Given the description of an element on the screen output the (x, y) to click on. 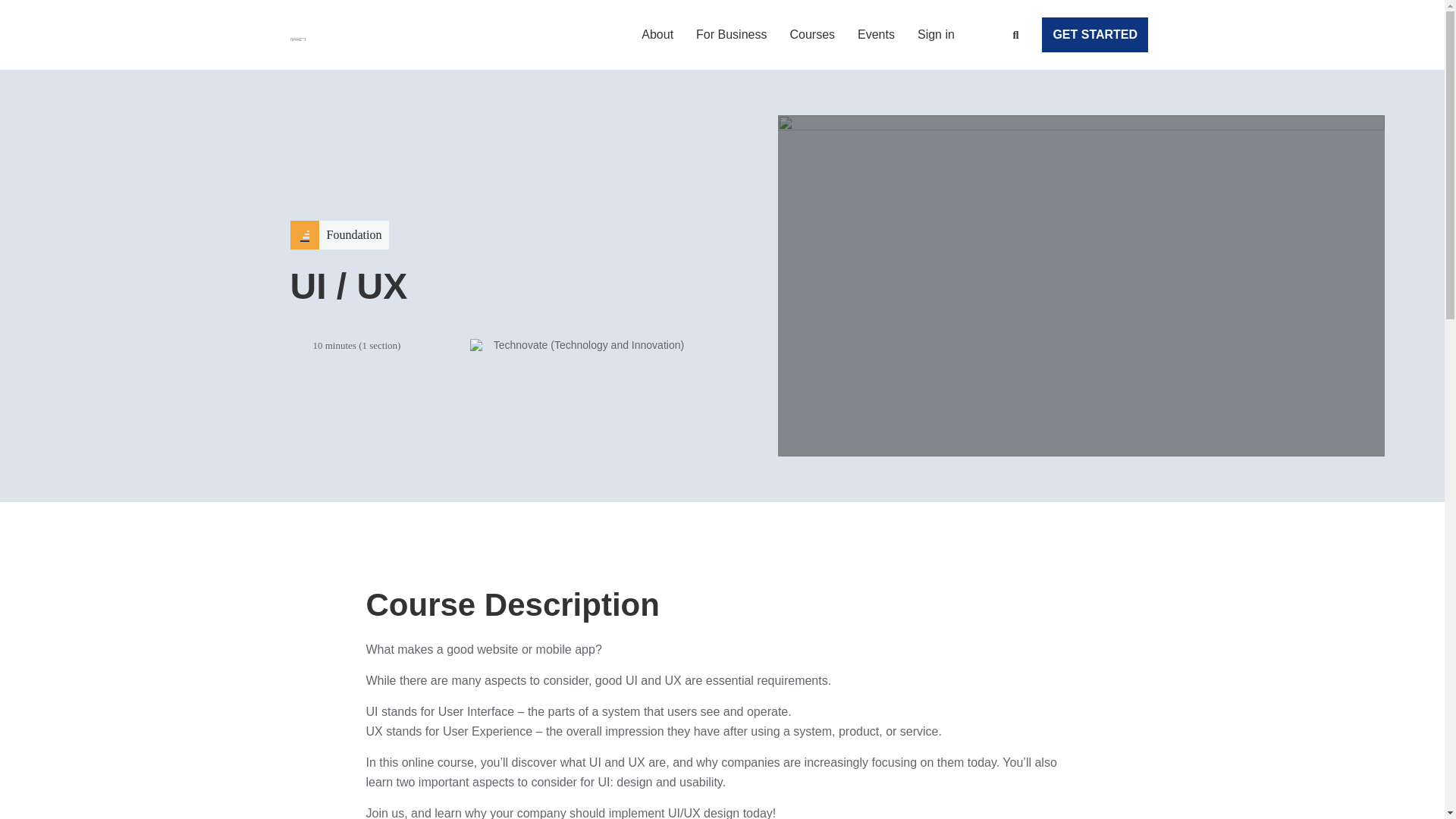
Events (876, 34)
About (657, 34)
For Business (731, 34)
GET STARTED (1095, 34)
Courses (811, 34)
Sign in (936, 34)
